Given the description of an element on the screen output the (x, y) to click on. 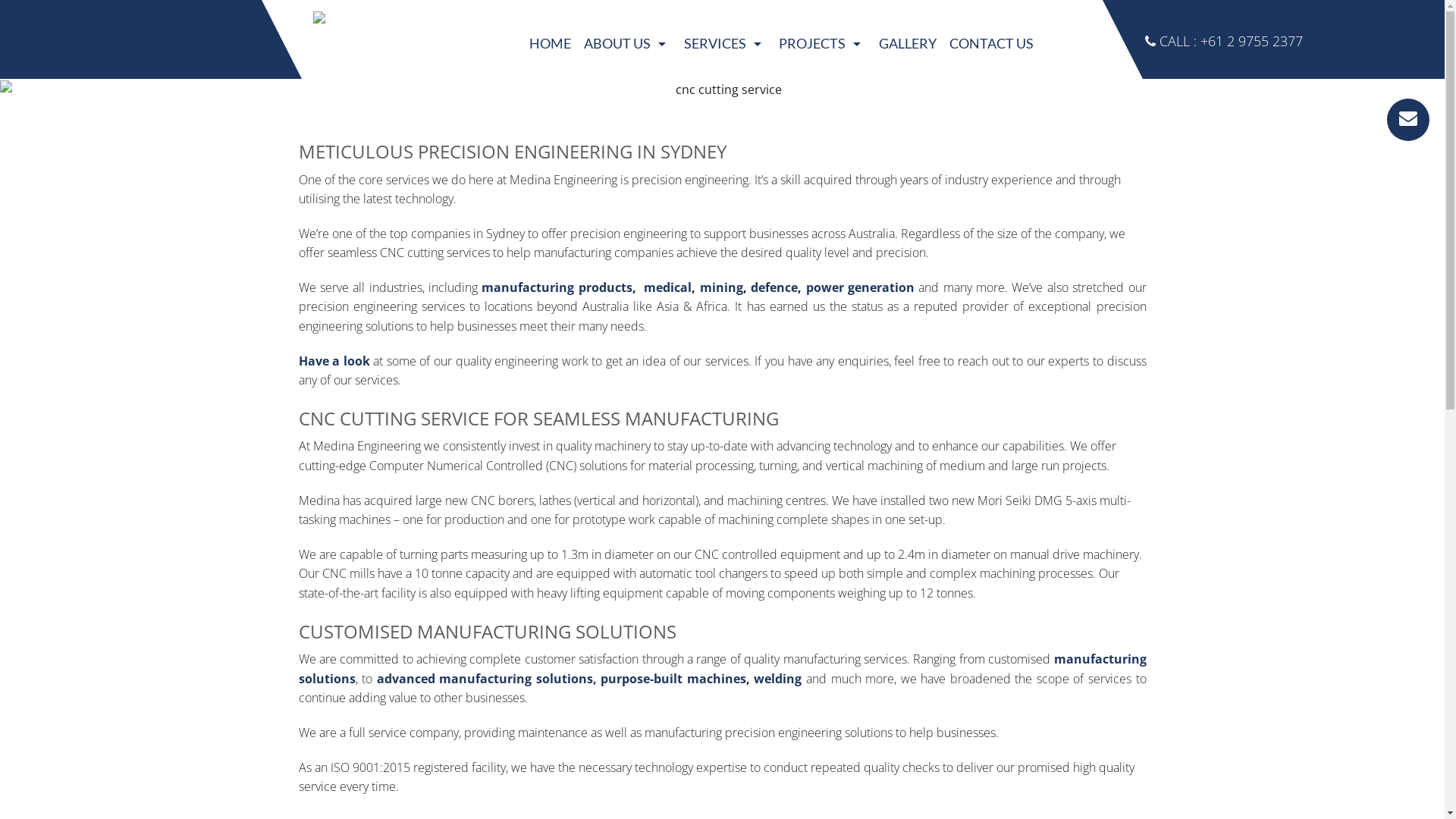
RAILWAY Element type: text (822, 260)
FABRICATION & WELDING Element type: text (724, 226)
purpose-built machines Element type: text (673, 678)
GALLERY Element type: text (907, 43)
+61 2 9755 2377 Element type: text (1250, 40)
DEFENCE Element type: text (822, 123)
ADVANCED MANUFACTURING Element type: text (724, 158)
 medical Element type: text (665, 287)
BUILDING PRODUCTS Element type: text (822, 89)
MINING Element type: text (822, 192)
CONTACT US Element type: text (991, 43)
defence Element type: text (773, 287)
advanced manufacturing solutions, Element type: text (486, 678)
VIBRATION STRESS RELIEVING Element type: text (724, 260)
HOME Element type: text (550, 43)
PRECISION ENGINEERING Element type: text (724, 89)
PROJECTS Element type: text (822, 43)
OILES DISTRIBUTION Element type: text (724, 294)
manufacturing solutions Element type: text (722, 668)
MANUFACTURING SOLUTIONS Element type: text (724, 123)
QUALITY Element type: text (627, 89)
power generation Element type: text (860, 287)
welding Element type: text (777, 678)
MEDICAL Element type: text (822, 158)
STEEL & ALUMINIUM Element type: text (822, 294)
ABOUT US Element type: text (627, 43)
POWER GENERATION Element type: text (822, 226)
mining Element type: text (721, 287)
manufacturing products Element type: text (556, 287)
Have a look Element type: text (334, 360)
PURPOSE BUILT MACHINERY Element type: text (724, 192)
SERVICES Element type: text (724, 43)
